Given the description of an element on the screen output the (x, y) to click on. 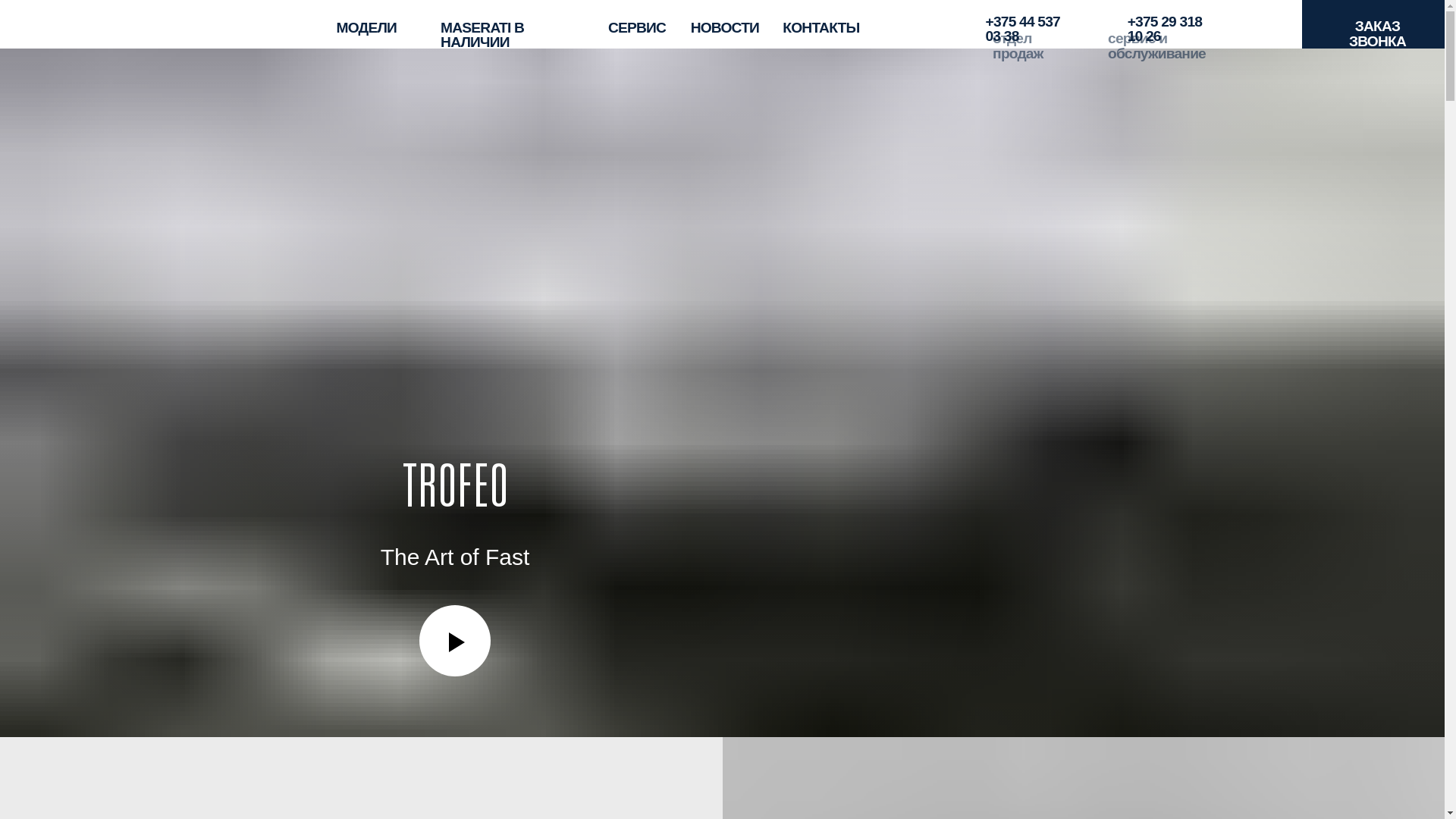
+375 44 537 03 38 Element type: text (638, 17)
+375 29 318 10 26 Element type: text (727, 17)
